Given the description of an element on the screen output the (x, y) to click on. 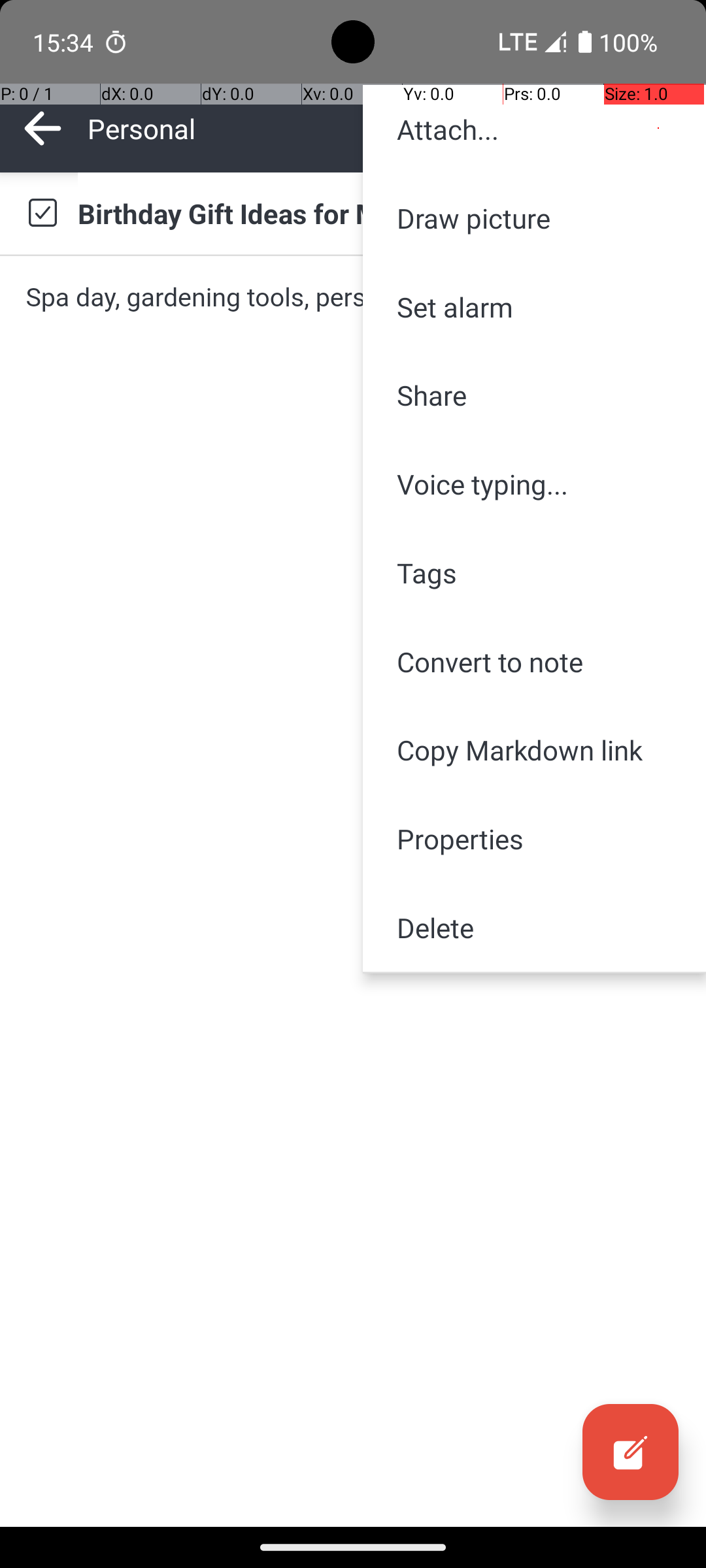
Birthday Gift Ideas for Mom Element type: android.widget.EditText (378, 213)
Attach... Element type: android.widget.TextView (534, 129)
Draw picture Element type: android.widget.TextView (534, 217)
Set alarm Element type: android.widget.TextView (534, 306)
Voice typing... Element type: android.widget.TextView (534, 484)
Tags Element type: android.widget.TextView (534, 572)
Convert to note Element type: android.widget.TextView (534, 661)
Copy Markdown link Element type: android.widget.TextView (534, 749)
Properties Element type: android.widget.TextView (534, 838)
Spa day, gardening tools, personalized photo album Element type: android.widget.TextView (352, 296)
